Given the description of an element on the screen output the (x, y) to click on. 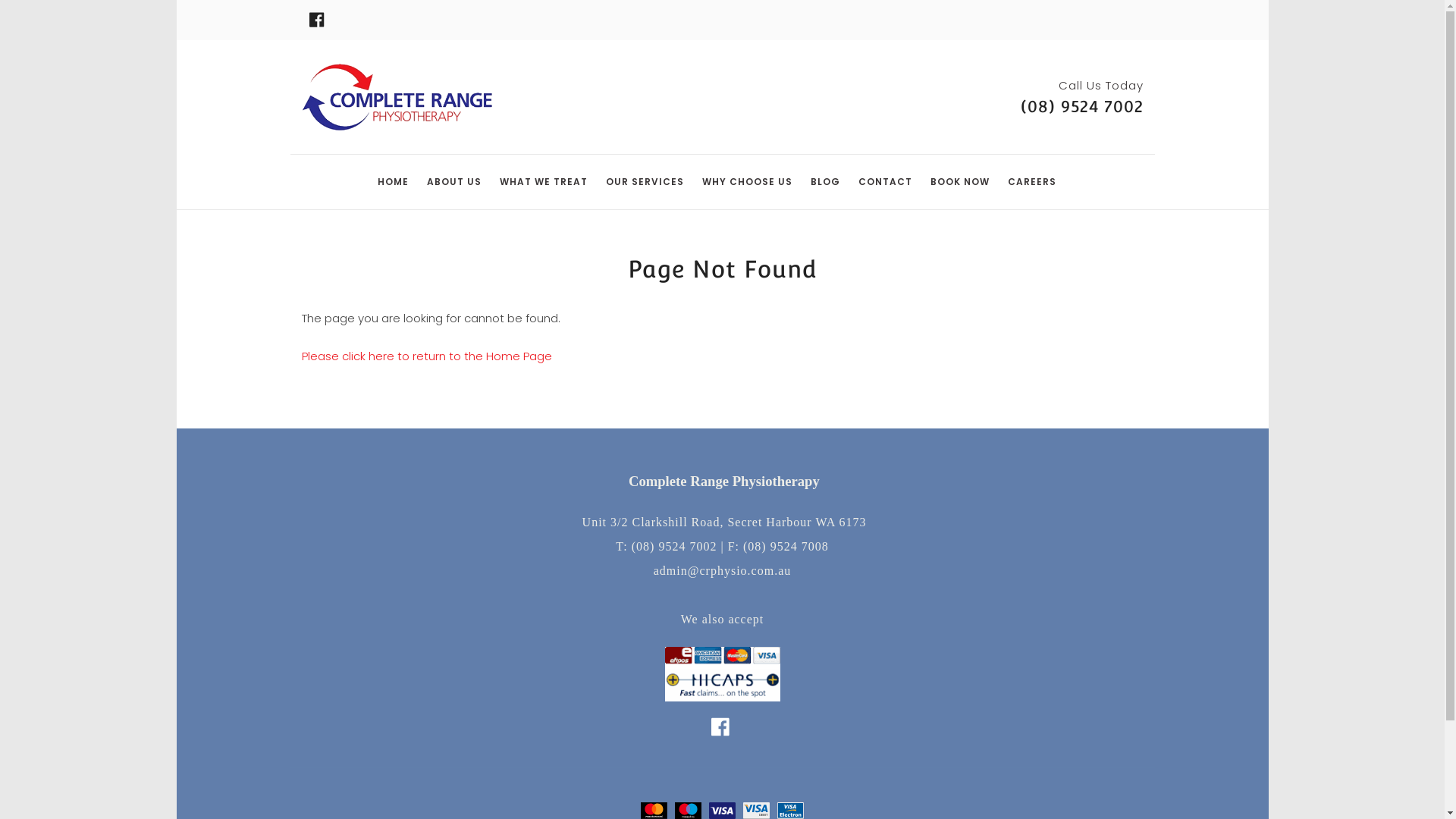
facebook Element type: text (316, 19)
facebook Element type: text (720, 730)
HOME Element type: text (392, 181)
BOOK NOW Element type: text (958, 181)
(08) 9524 7002 Element type: text (1081, 106)
WHAT WE TREAT Element type: text (542, 181)
CONTACT Element type: text (885, 181)
hicaps logo Element type: hover (721, 673)
CAREERS Element type: text (1030, 181)
ABOUT US Element type: text (453, 181)
OUR SERVICES Element type: text (644, 181)
Please click here to return to the Home Page Element type: text (426, 356)
WHY CHOOSE US Element type: text (747, 181)
BLOG Element type: text (824, 181)
